Given the description of an element on the screen output the (x, y) to click on. 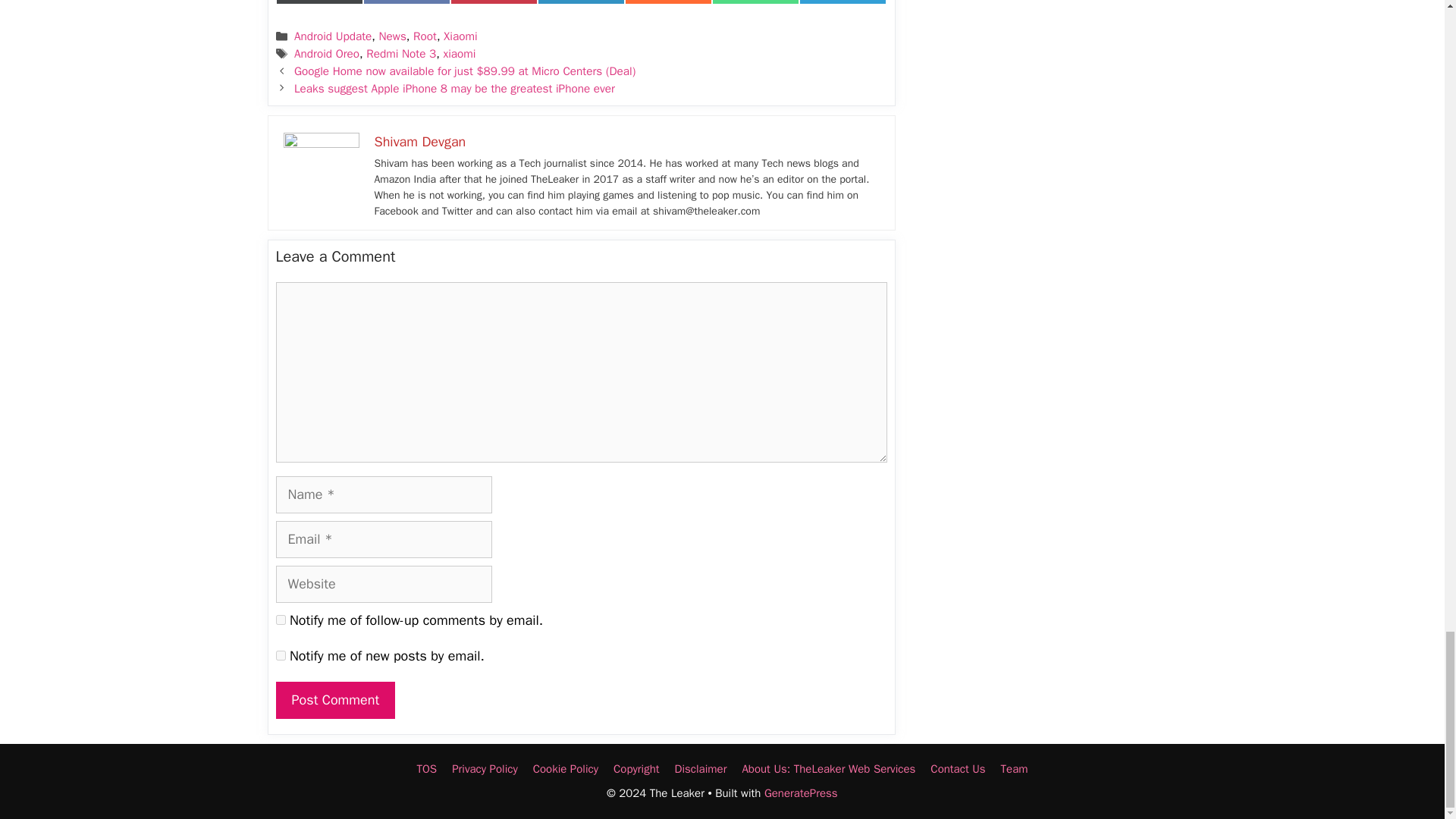
subscribe (280, 655)
subscribe (280, 619)
Post Comment (336, 700)
